Given the description of an element on the screen output the (x, y) to click on. 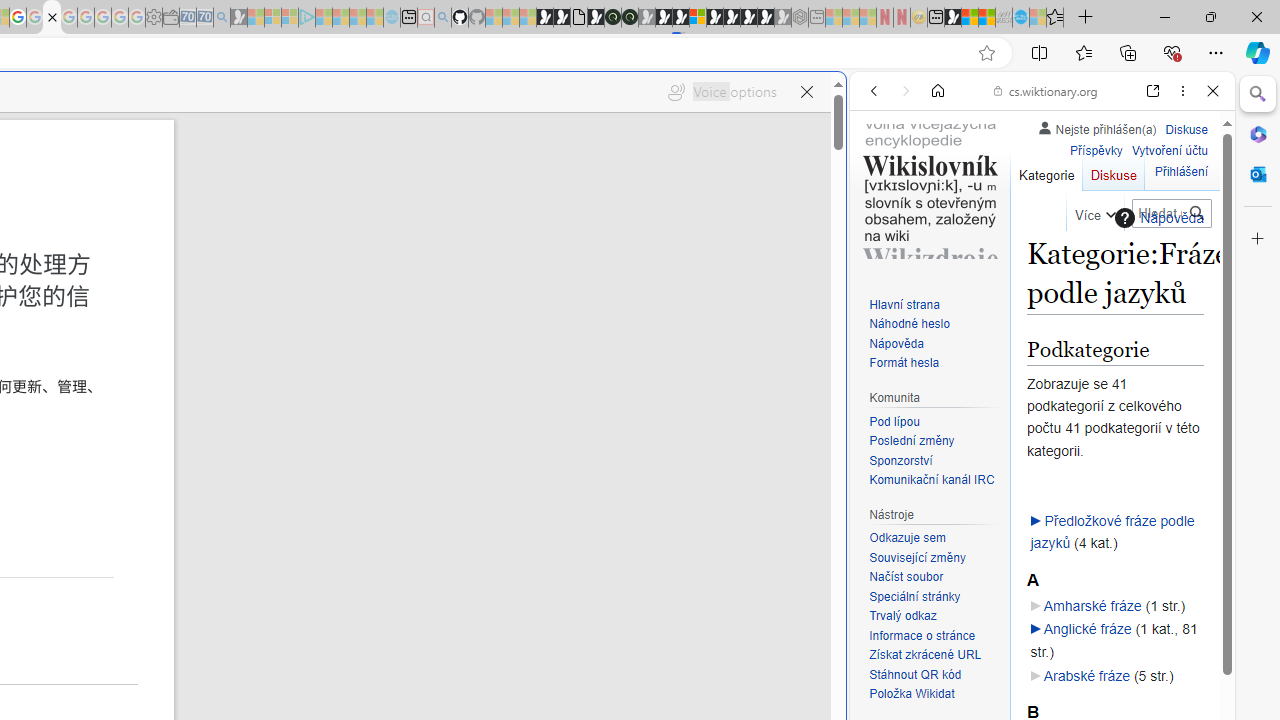
Sign in to your account (697, 17)
World - MSN (969, 17)
Search the web (1051, 137)
Close Customize pane (1258, 239)
